Given the description of an element on the screen output the (x, y) to click on. 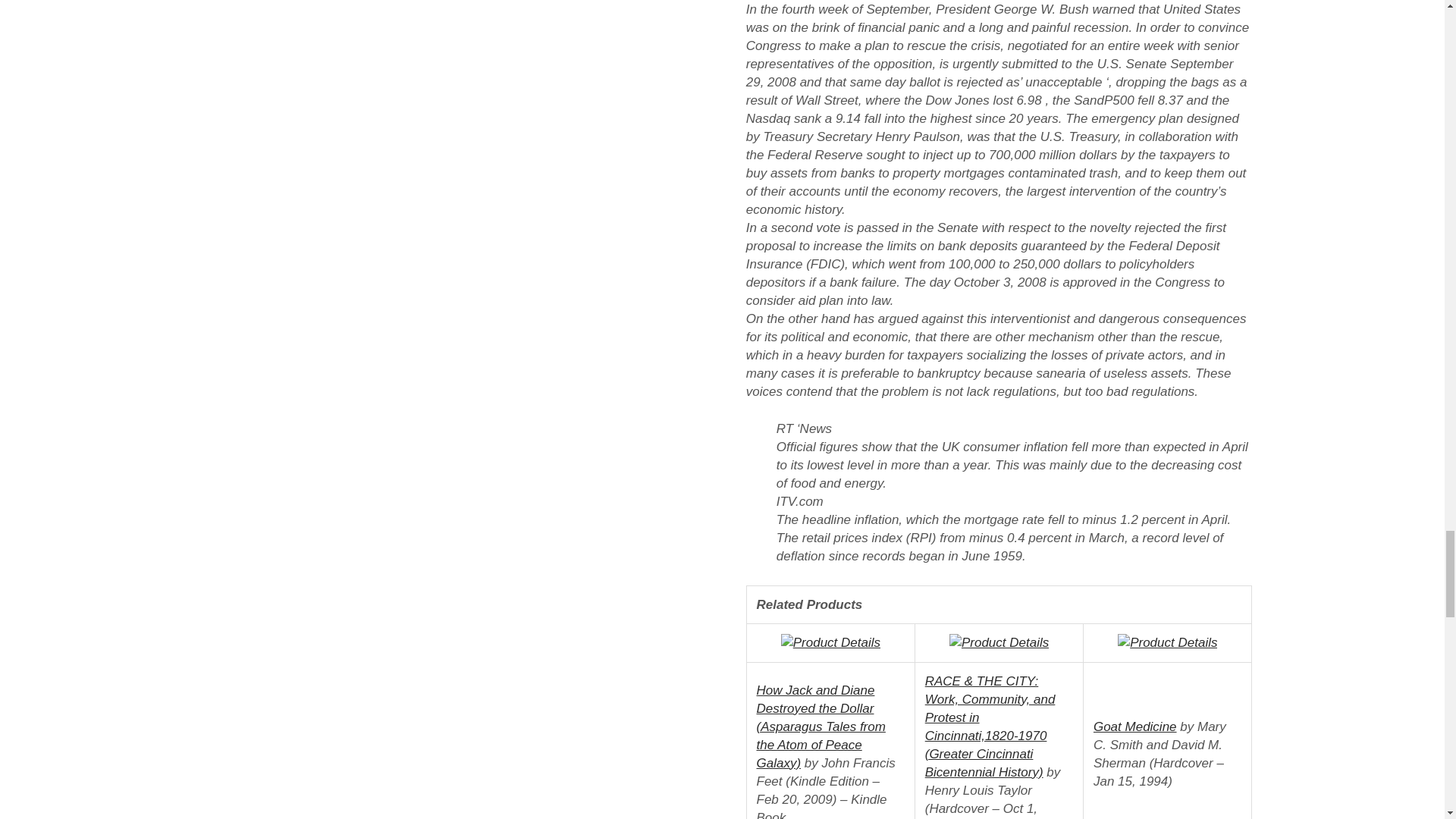
Goat Medicine (1134, 726)
